Given the description of an element on the screen output the (x, y) to click on. 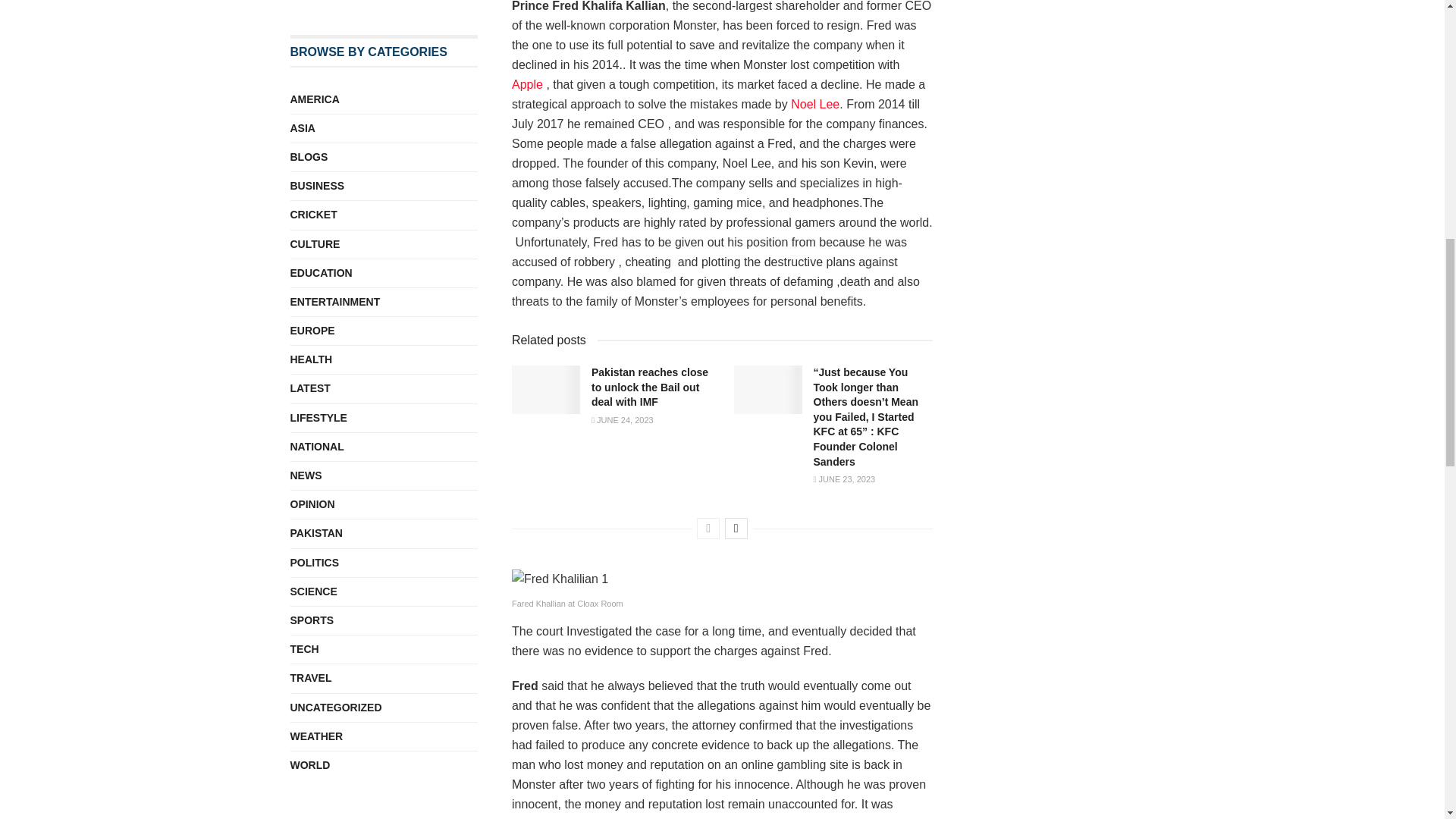
Next (736, 527)
Previous (708, 527)
